Given the description of an element on the screen output the (x, y) to click on. 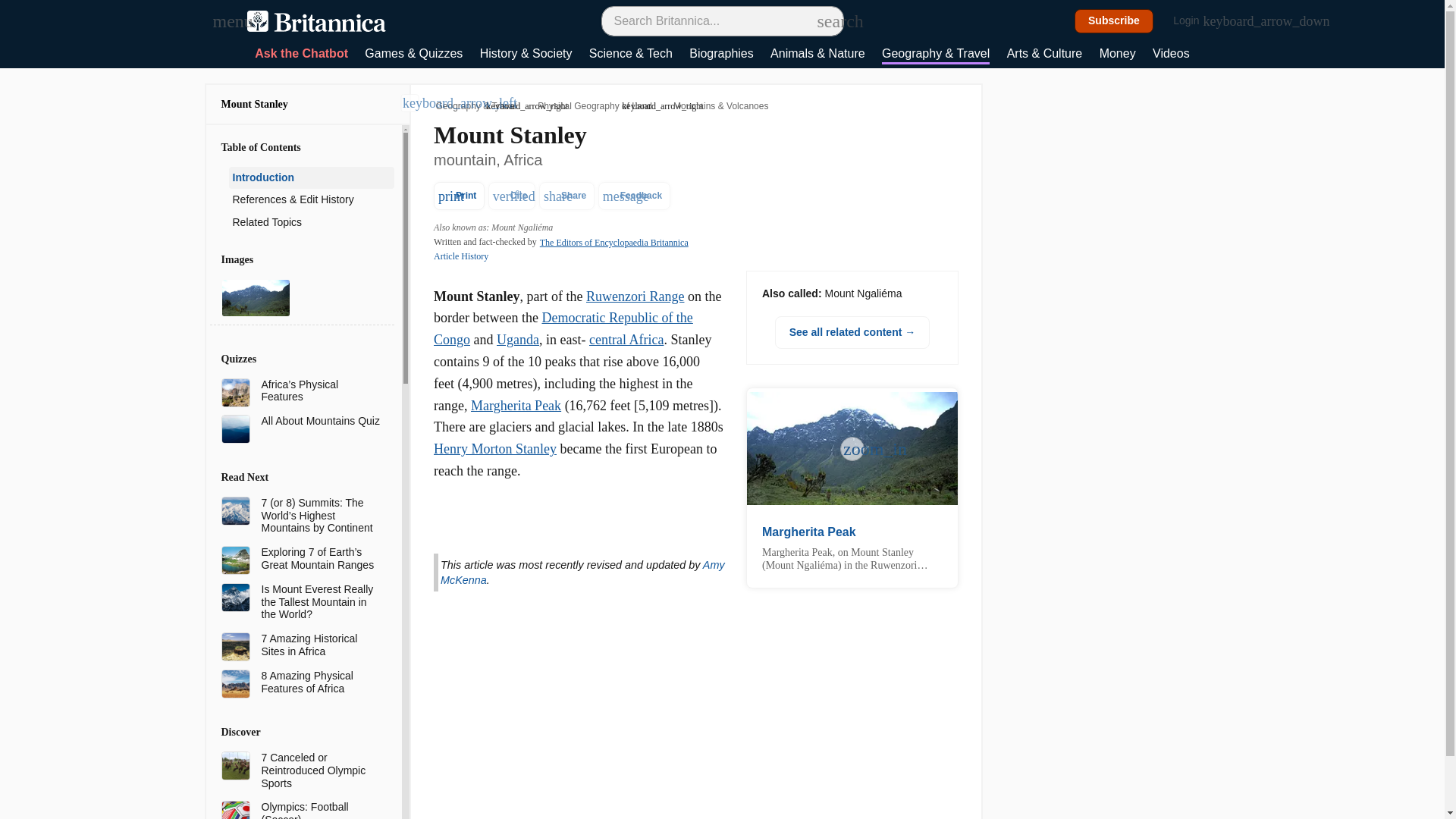
Subscribe (1114, 21)
Click here to search (825, 20)
Login (1194, 20)
